Given the description of an element on the screen output the (x, y) to click on. 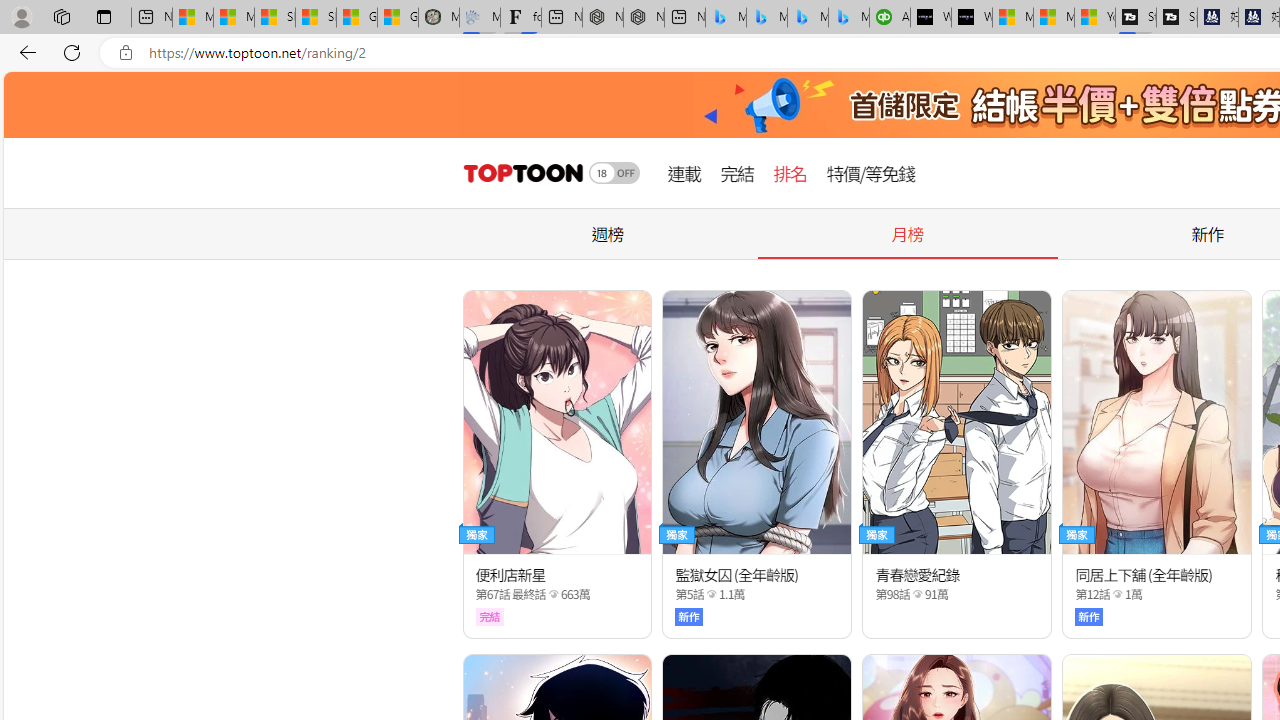
Class: epicon_starpoint (1117, 593)
header (519, 173)
Class: thumb_img (1156, 422)
